Given the description of an element on the screen output the (x, y) to click on. 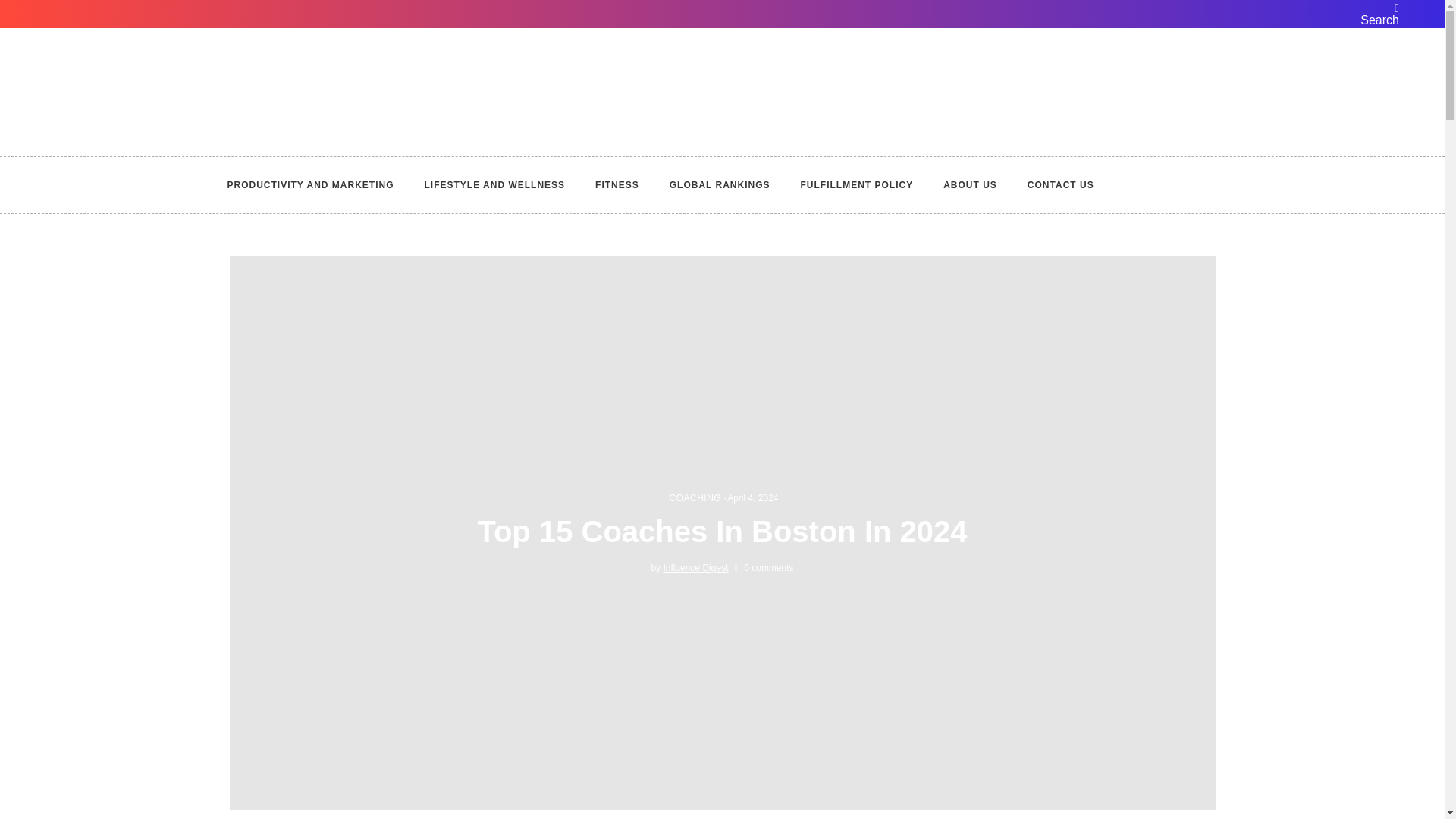
ABOUT US (969, 184)
LIFESTYLE AND WELLNESS (494, 184)
GLOBAL RANKINGS (719, 184)
COACHING (694, 498)
Search (1377, 14)
FITNESS (616, 184)
Influence Digest (695, 567)
CONTACT US (1060, 184)
FULFILLMENT POLICY (857, 184)
PRODUCTIVITY AND MARKETING (318, 184)
0 comments (763, 567)
April 4, 2024 (751, 498)
